Given the description of an element on the screen output the (x, y) to click on. 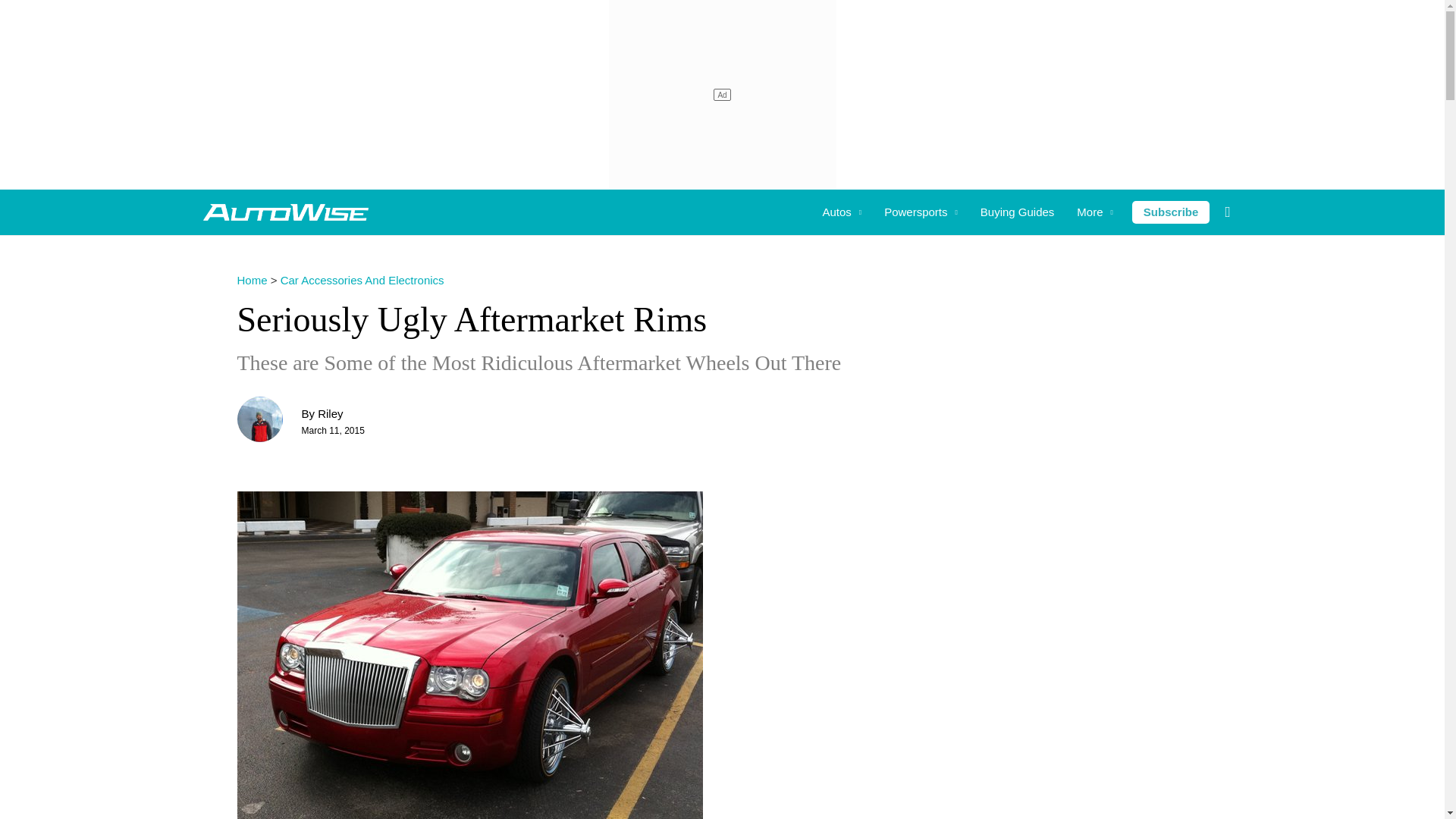
Search (32, 15)
More (1094, 212)
Subscribe (1170, 211)
Riley (329, 413)
Posts by Riley (329, 413)
Buying Guides (1017, 212)
Autos (841, 212)
Home (250, 279)
Go to the Car Accessories And Electronics category archives. (362, 279)
Go to Autowise. (250, 279)
Car Accessories And Electronics (362, 279)
Powersports (920, 212)
